Given the description of an element on the screen output the (x, y) to click on. 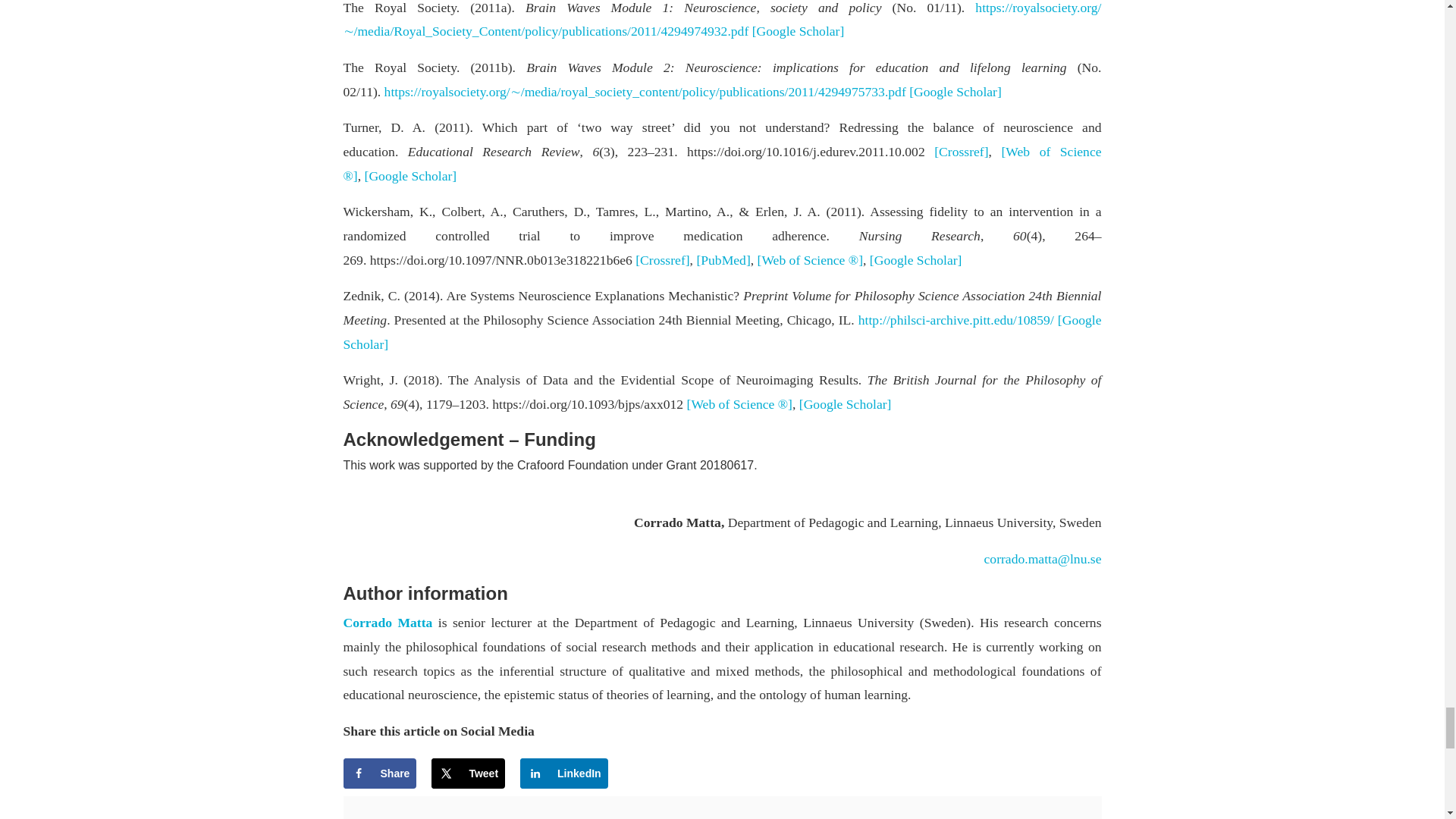
Share on Facebook (379, 773)
Share on LinkedIn (563, 773)
Share on X (467, 773)
